Given the description of an element on the screen output the (x, y) to click on. 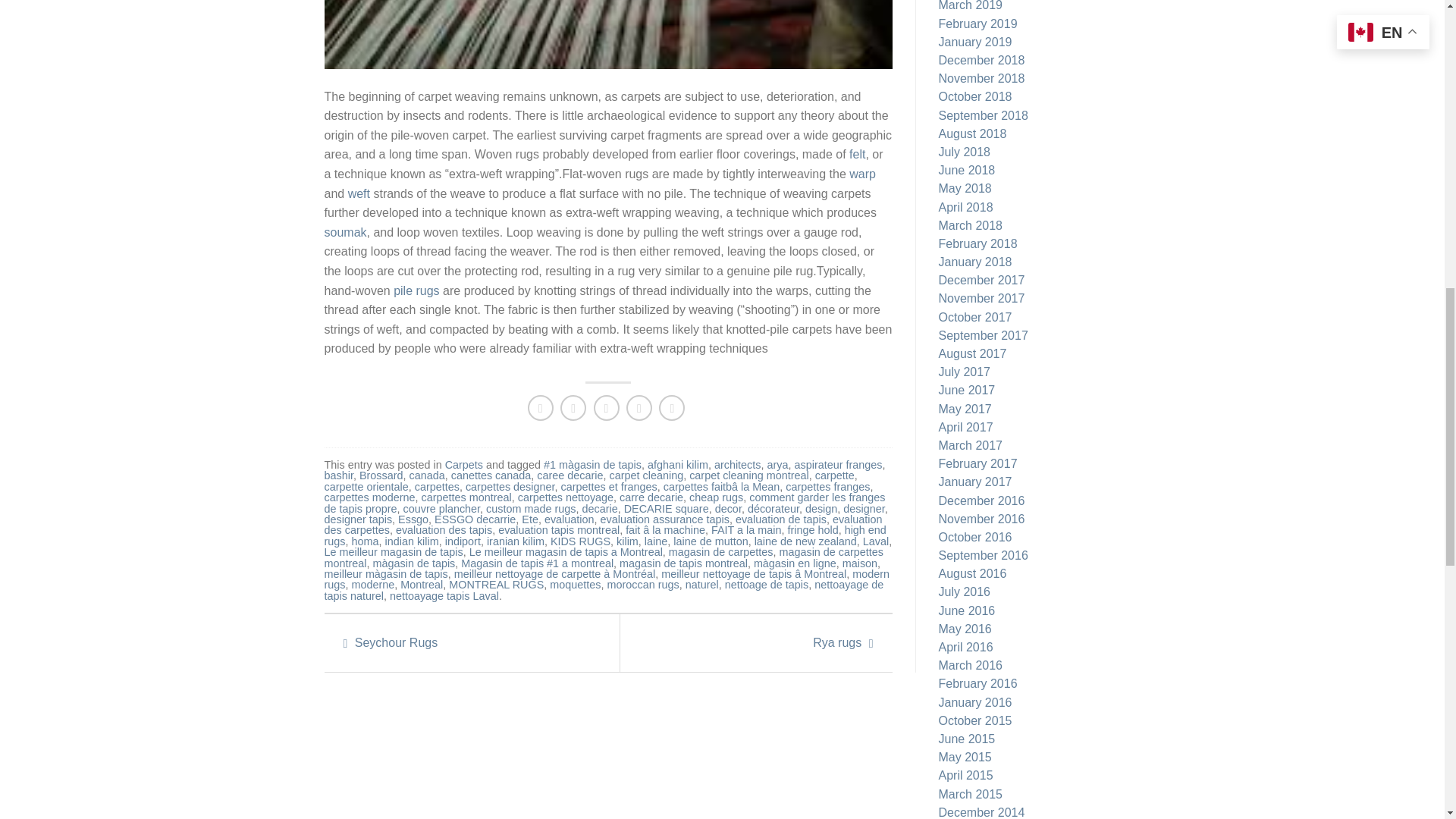
warp (862, 173)
soumak (345, 232)
pile rugs (416, 290)
felt (856, 154)
Felt (856, 154)
Soumak rug (345, 232)
Carpets (464, 464)
weft (358, 193)
Pile rug (416, 290)
Weft (358, 193)
